Given the description of an element on the screen output the (x, y) to click on. 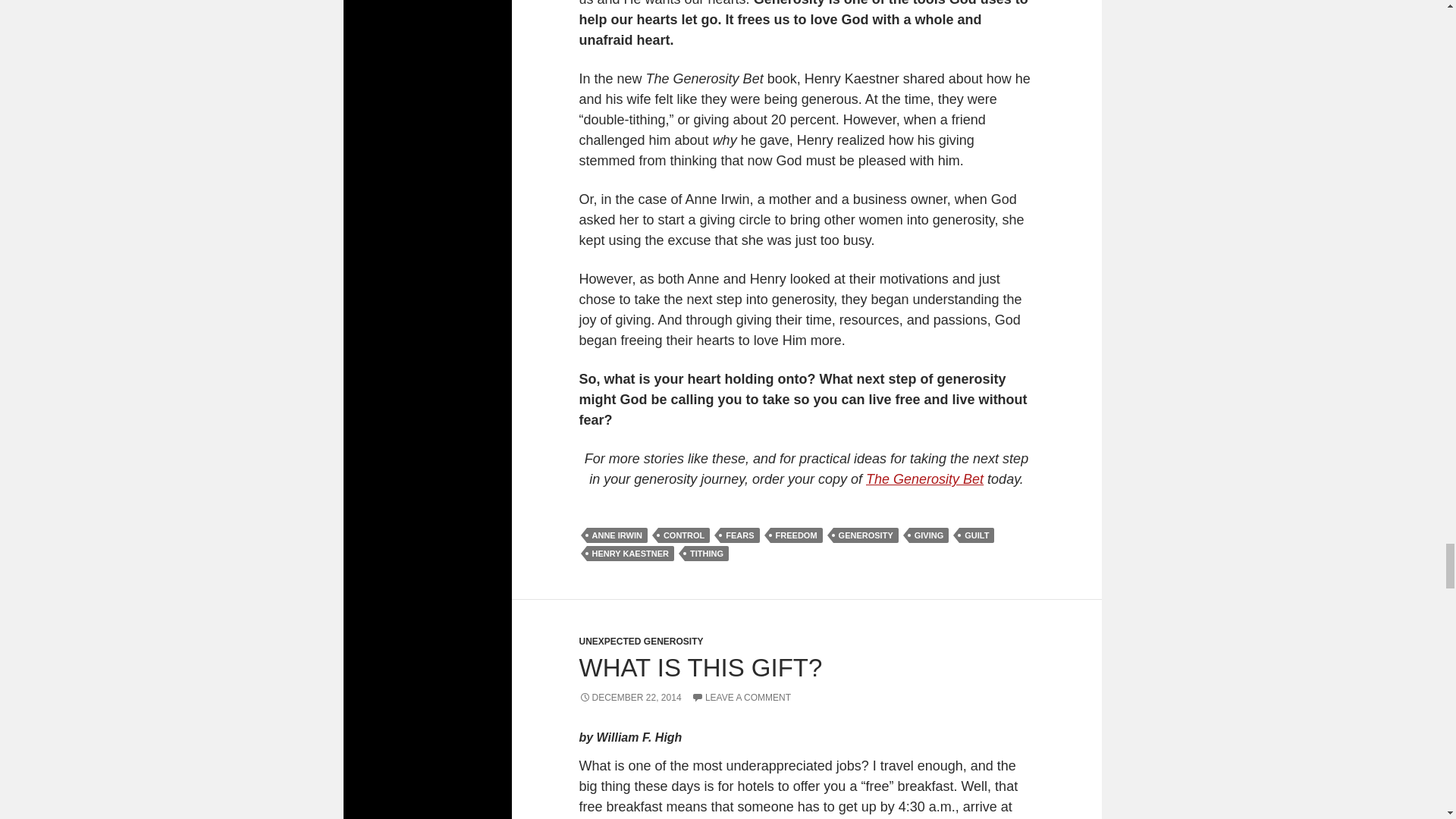
Comment on What Is This Gift? (740, 697)
